Given the description of an element on the screen output the (x, y) to click on. 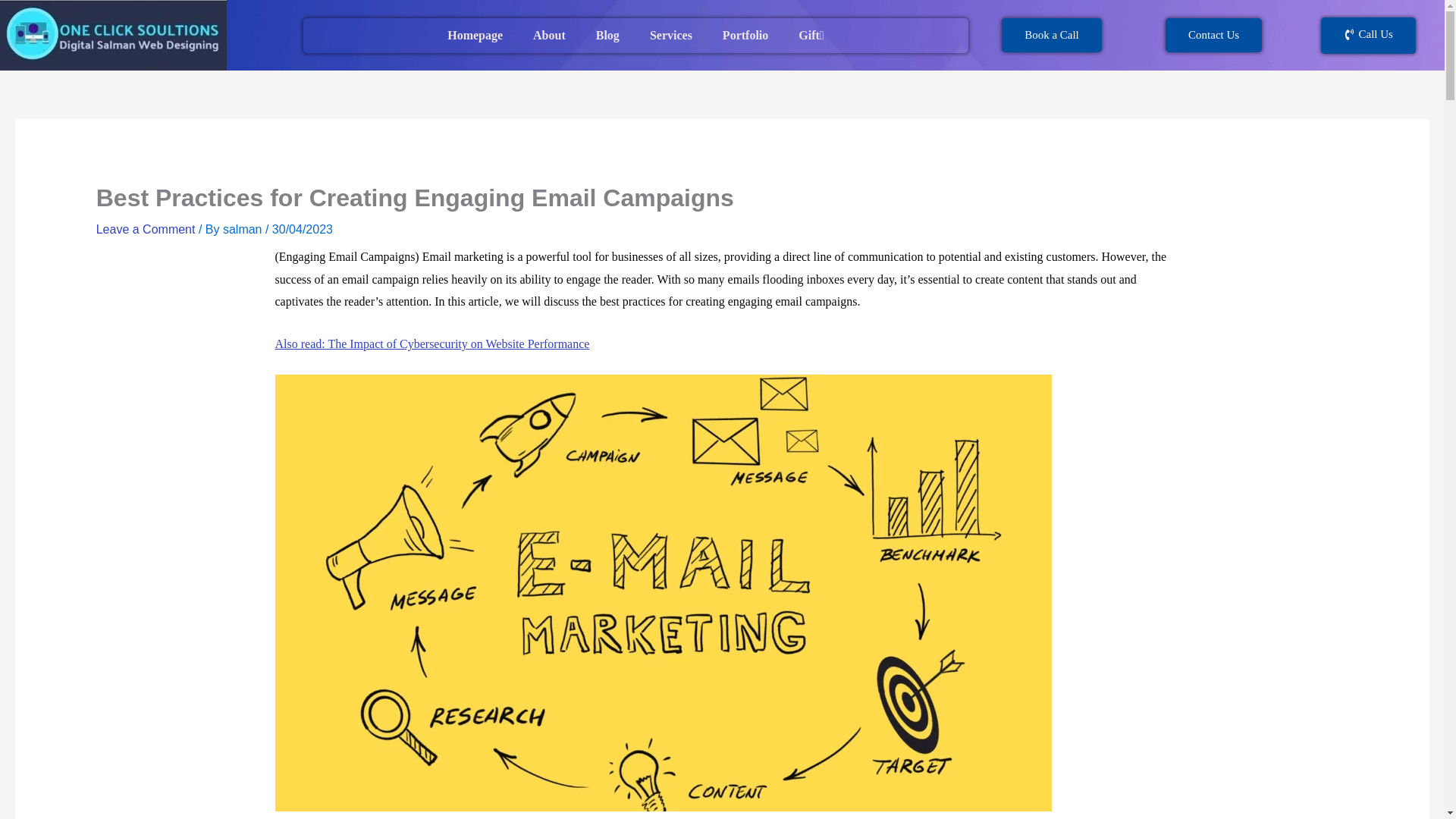
View all posts by salman (243, 228)
Contact Us (1214, 35)
salman (243, 228)
Book a Call (1051, 35)
Blog (607, 35)
Portfolio (745, 35)
Call Us (1367, 34)
Services (670, 35)
Leave a Comment (145, 228)
